Given the description of an element on the screen output the (x, y) to click on. 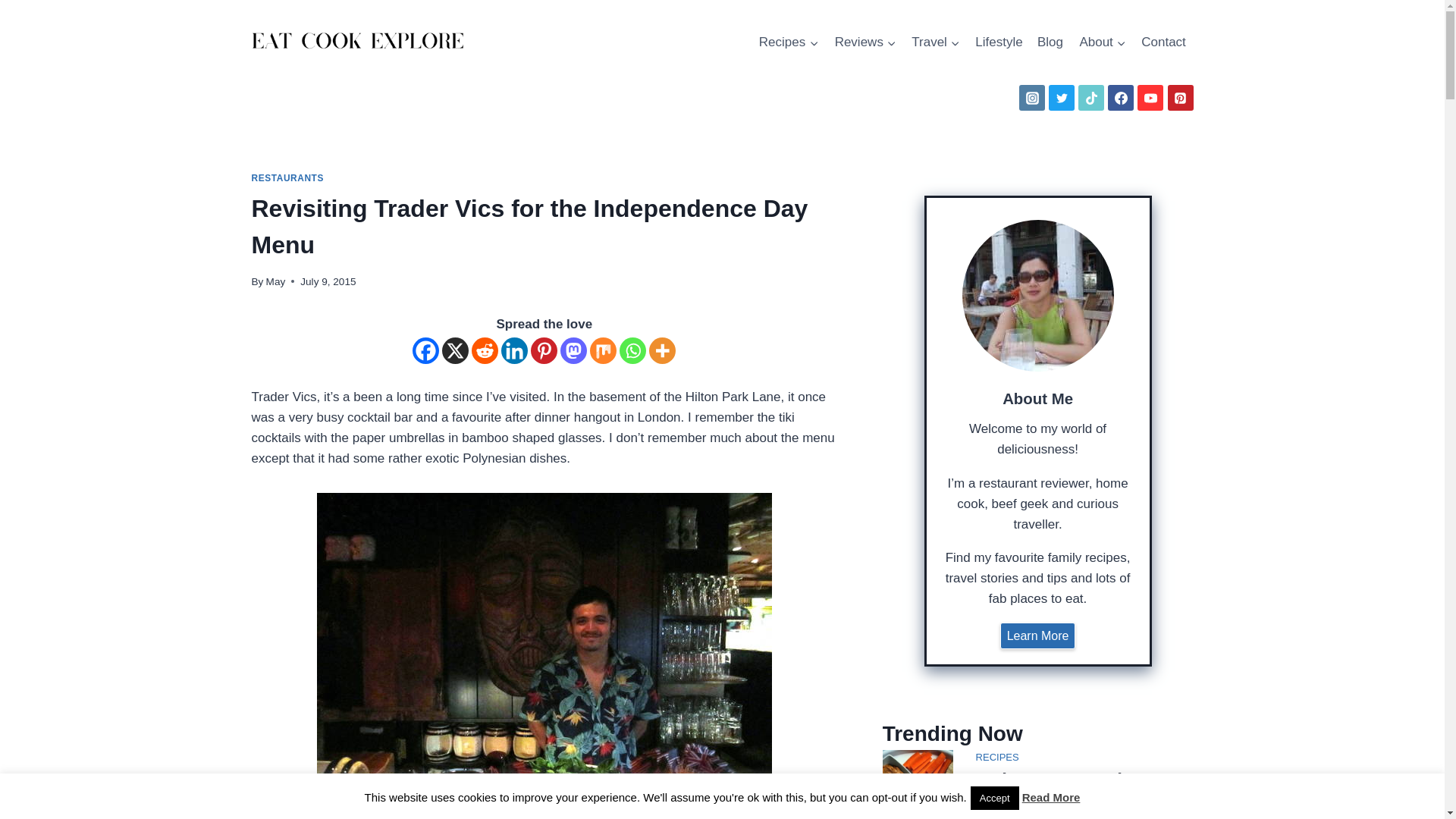
Pinterest (544, 350)
Contact (1163, 42)
Facebook (425, 350)
RESTAURANTS (287, 177)
About (1102, 42)
Mix (602, 350)
Recipes (789, 42)
May (275, 281)
Linkedin (513, 350)
Lifestyle (999, 42)
